Given the description of an element on the screen output the (x, y) to click on. 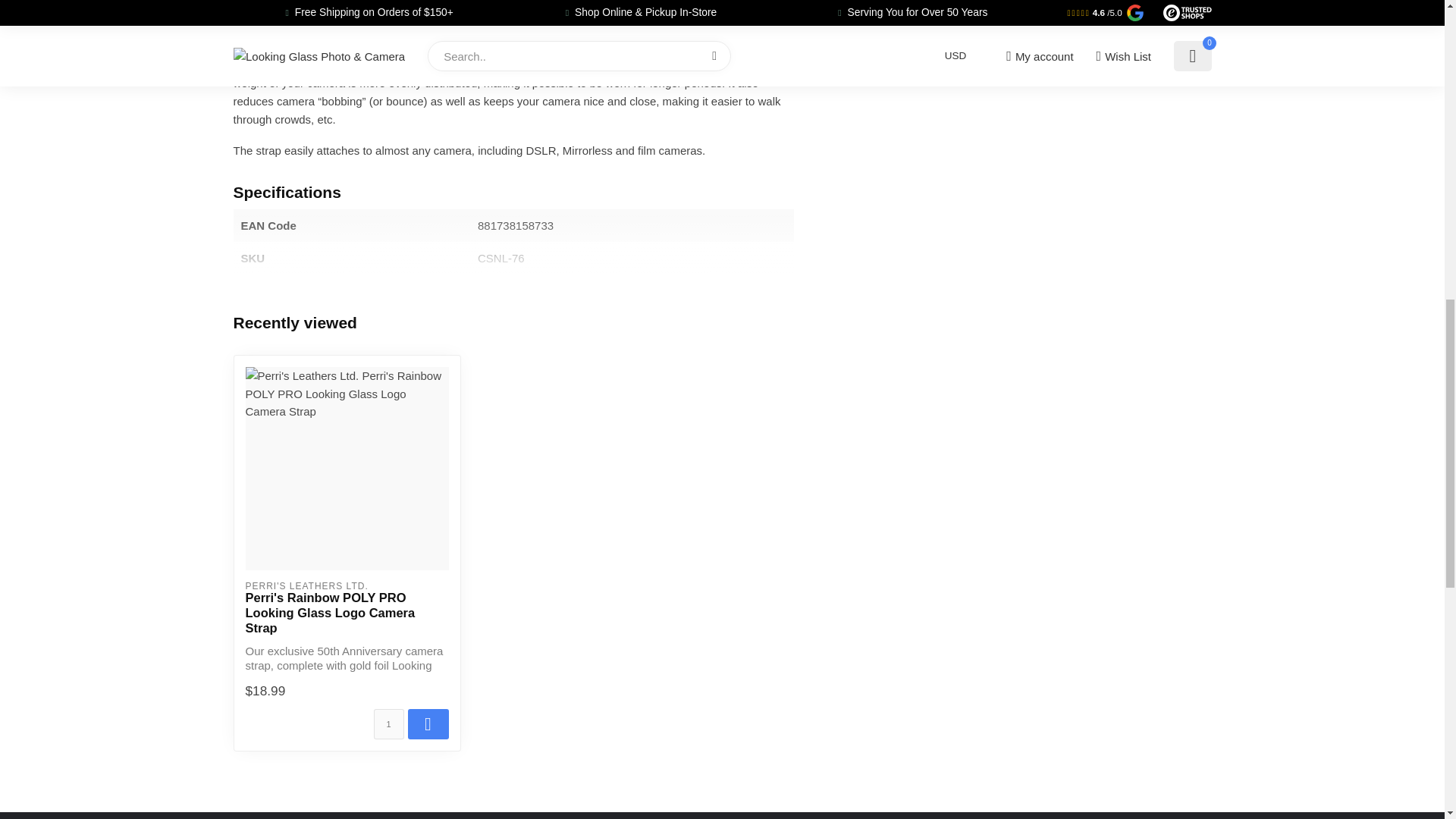
1 (387, 724)
